Given the description of an element on the screen output the (x, y) to click on. 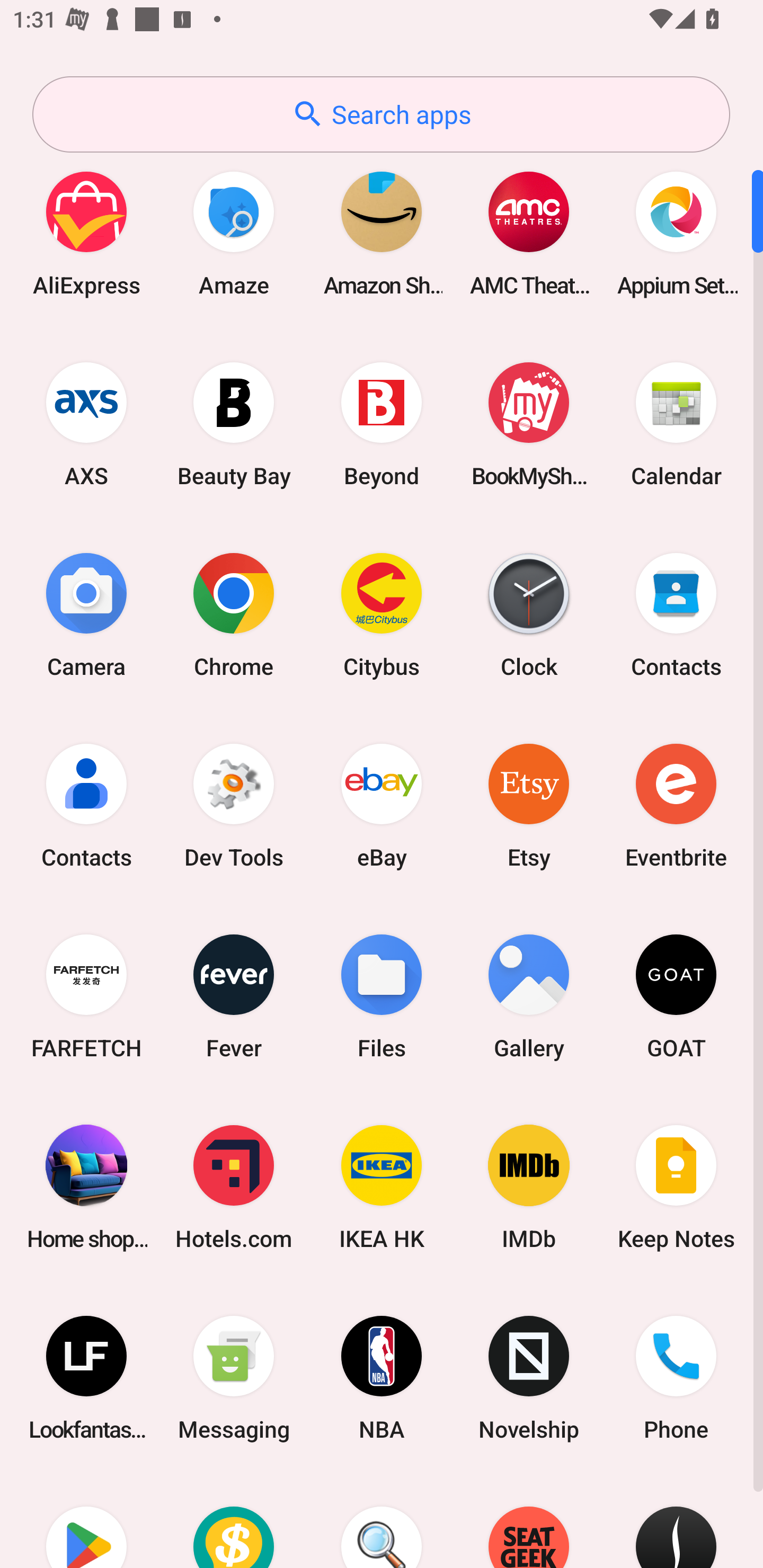
  Search apps (381, 114)
AliExpress (86, 233)
Amaze (233, 233)
Amazon Shopping (381, 233)
AMC Theatres (528, 233)
Appium Settings (676, 233)
AXS (86, 424)
Beauty Bay (233, 424)
Beyond (381, 424)
BookMyShow (528, 424)
Calendar (676, 424)
Camera (86, 614)
Chrome (233, 614)
Citybus (381, 614)
Clock (528, 614)
Contacts (676, 614)
Contacts (86, 805)
Dev Tools (233, 805)
eBay (381, 805)
Etsy (528, 805)
Eventbrite (676, 805)
FARFETCH (86, 996)
Fever (233, 996)
Files (381, 996)
Gallery (528, 996)
GOAT (676, 996)
Home shopping (86, 1186)
Hotels.com (233, 1186)
IKEA HK (381, 1186)
IMDb (528, 1186)
Keep Notes (676, 1186)
Lookfantastic (86, 1377)
Messaging (233, 1377)
NBA (381, 1377)
Novelship (528, 1377)
Phone (676, 1377)
